Given the description of an element on the screen output the (x, y) to click on. 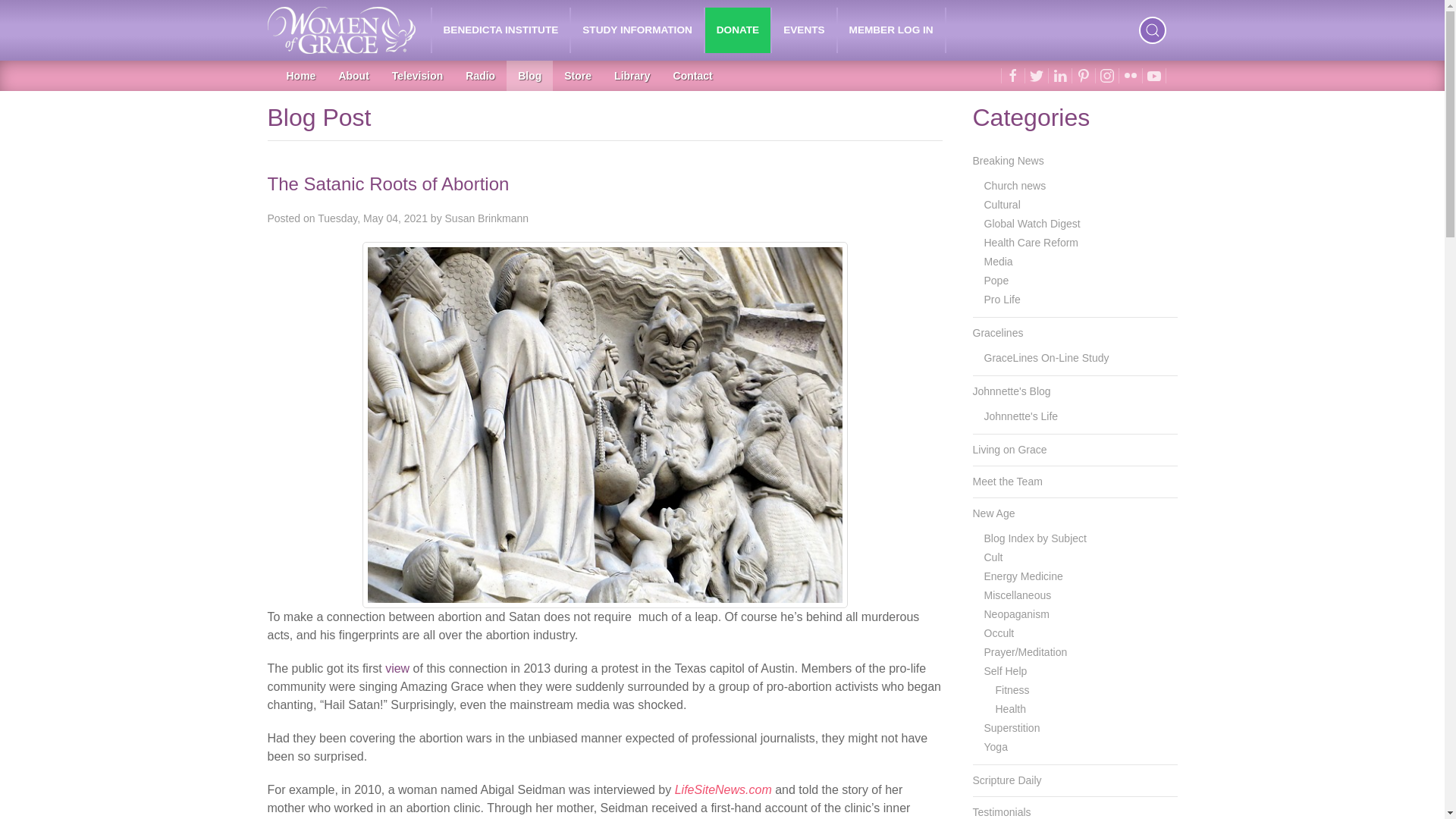
STUDY INFORMATION (636, 30)
About (353, 75)
Contact (692, 75)
10:15 am (372, 218)
Store (577, 75)
BENEDICTA INSTITUTE (501, 30)
Blog (529, 75)
Radio (480, 75)
Television (417, 75)
Tuesday, May 04, 2021 (372, 218)
view (397, 667)
MEMBER LOG IN (891, 30)
Susan Brinkmann (487, 218)
Home (300, 75)
EVENTS (803, 30)
